Given the description of an element on the screen output the (x, y) to click on. 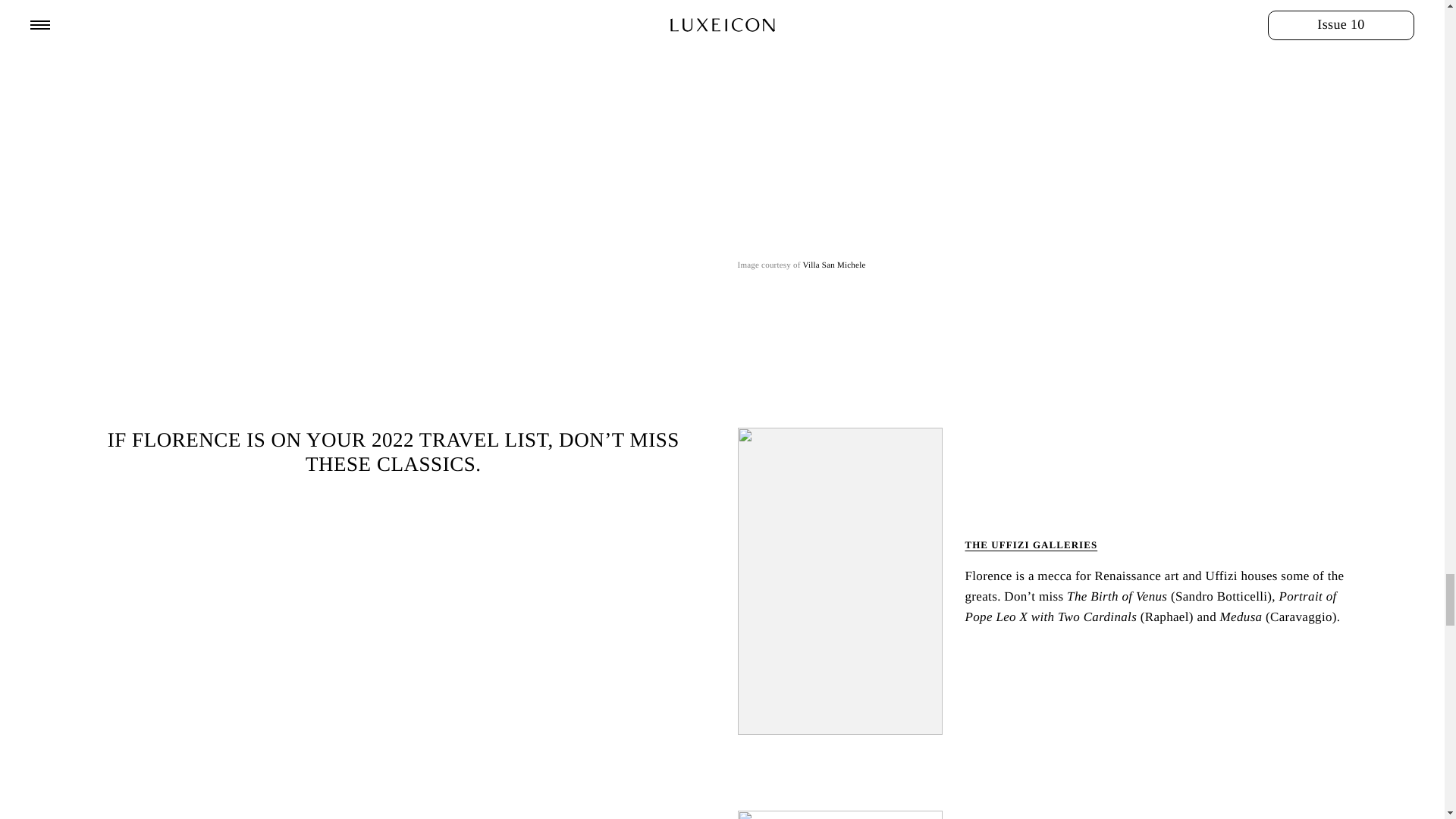
Villa San Michele (833, 265)
